Given the description of an element on the screen output the (x, y) to click on. 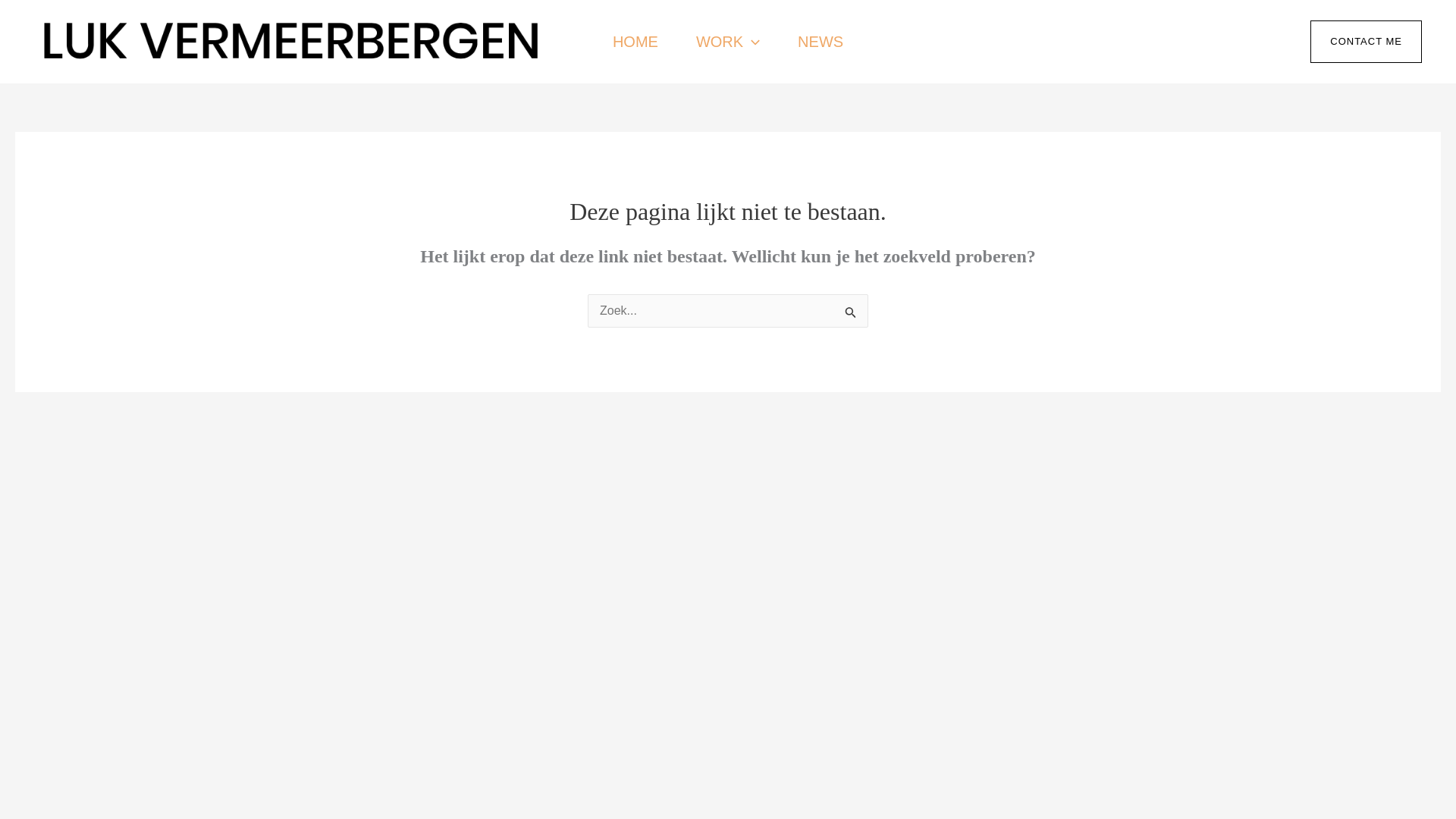
CONTACT ME (1366, 41)
Zoeken (850, 313)
Zoeken (850, 313)
NEWS (819, 41)
HOME (635, 41)
Zoeken (850, 313)
WORK (727, 41)
